Given the description of an element on the screen output the (x, y) to click on. 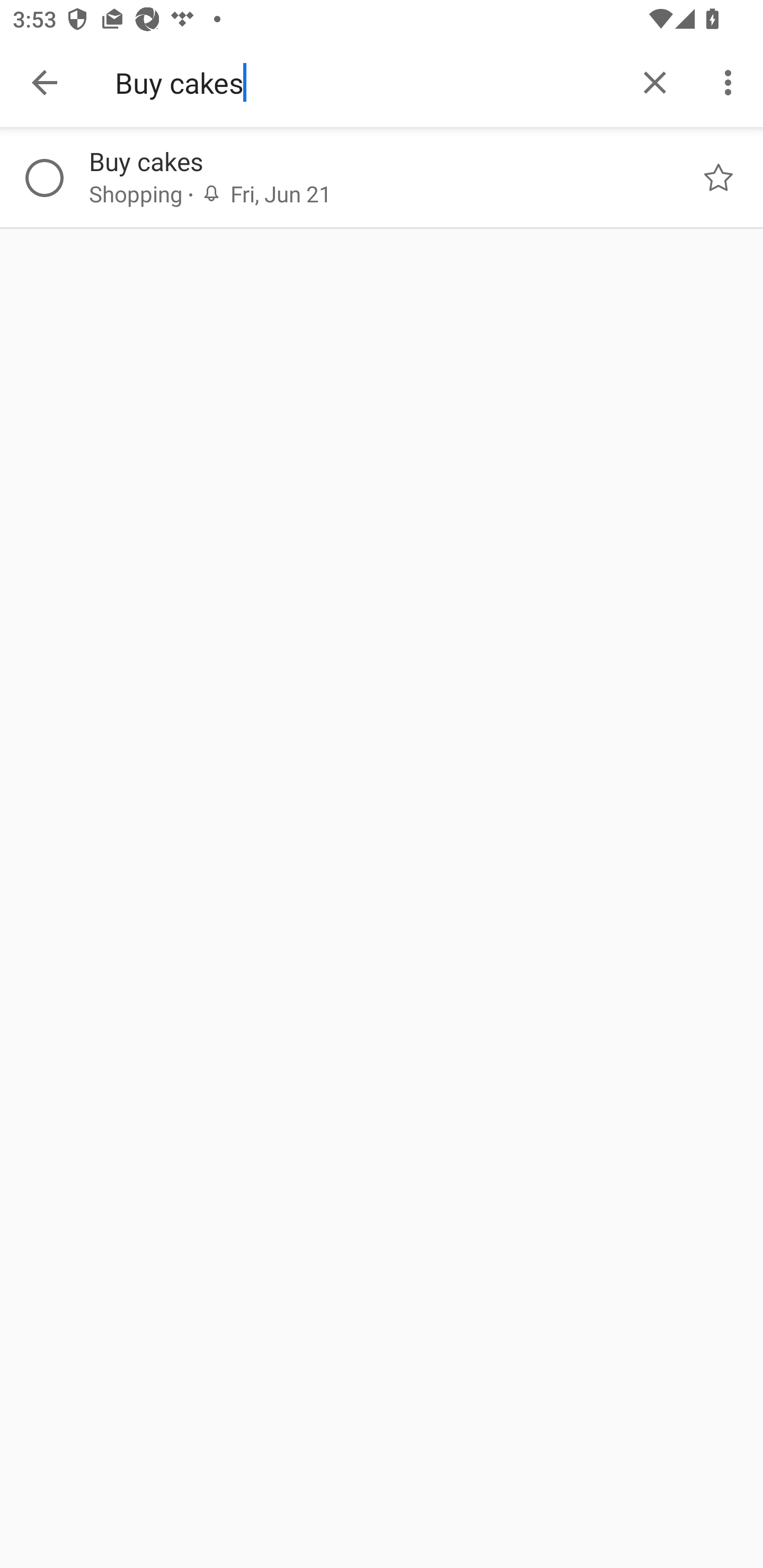
Incomplete task Buy cakes, Button (44, 177)
